Given the description of an element on the screen output the (x, y) to click on. 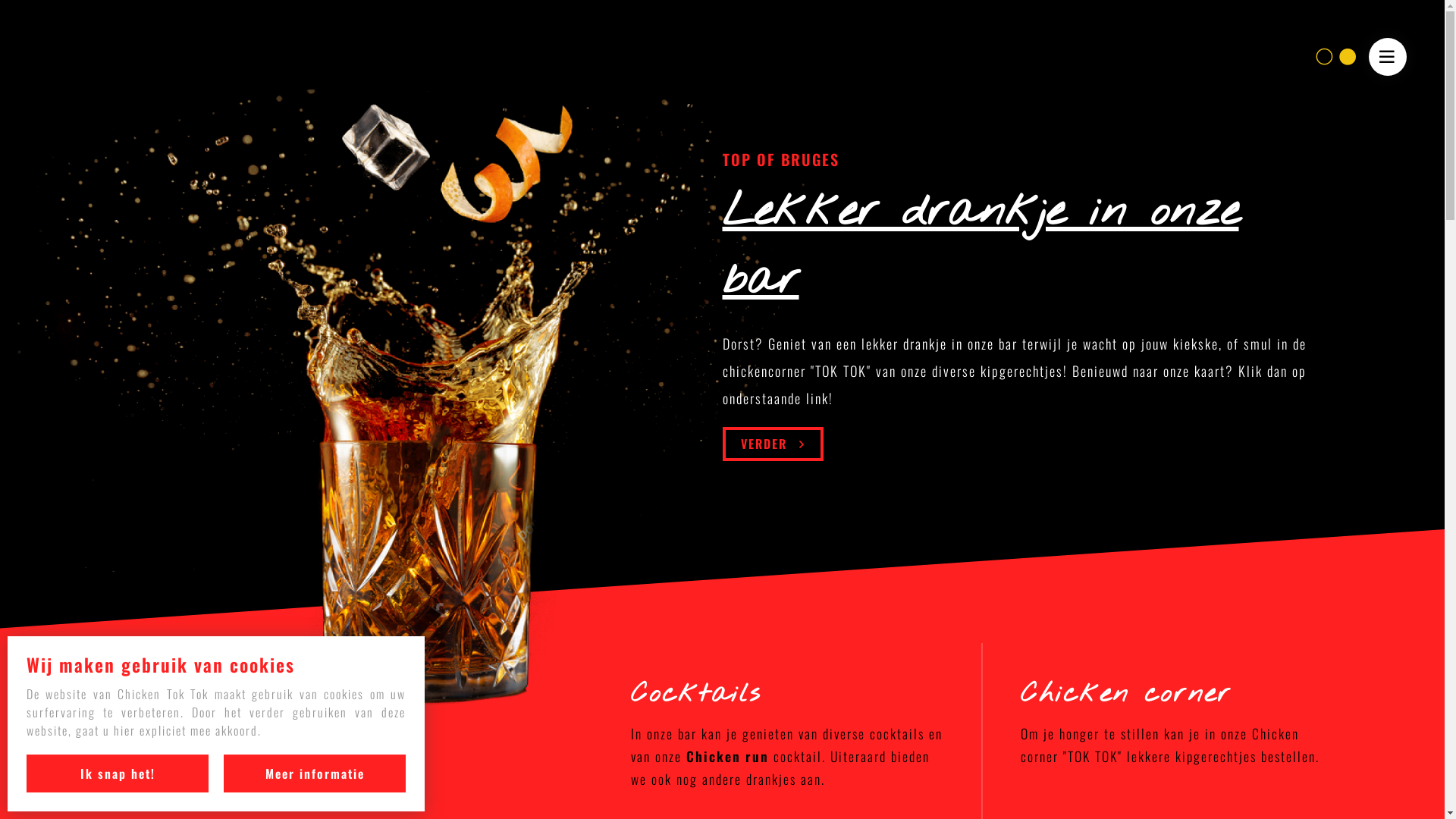
Meer informatie Element type: text (314, 773)
VERDER Element type: text (771, 443)
Ik snap het! Element type: text (117, 773)
